Given the description of an element on the screen output the (x, y) to click on. 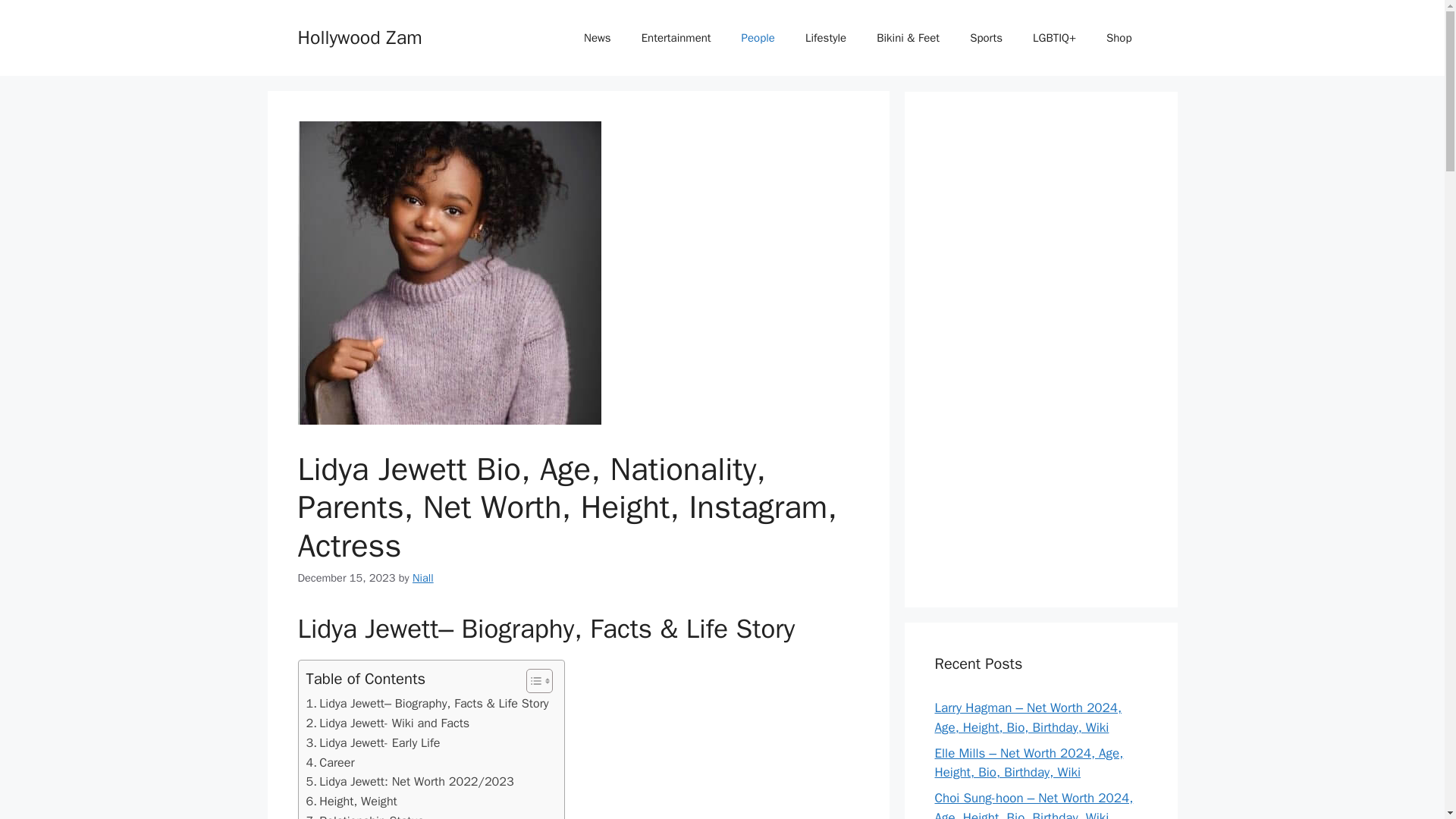
People (758, 37)
Career (330, 762)
News (597, 37)
Relationship Status (365, 815)
Entertainment (676, 37)
Career (330, 762)
Lidya Jewett- Early Life (373, 742)
Lifestyle (825, 37)
View all posts by Niall (422, 577)
Height, Weight (351, 801)
